Given the description of an element on the screen output the (x, y) to click on. 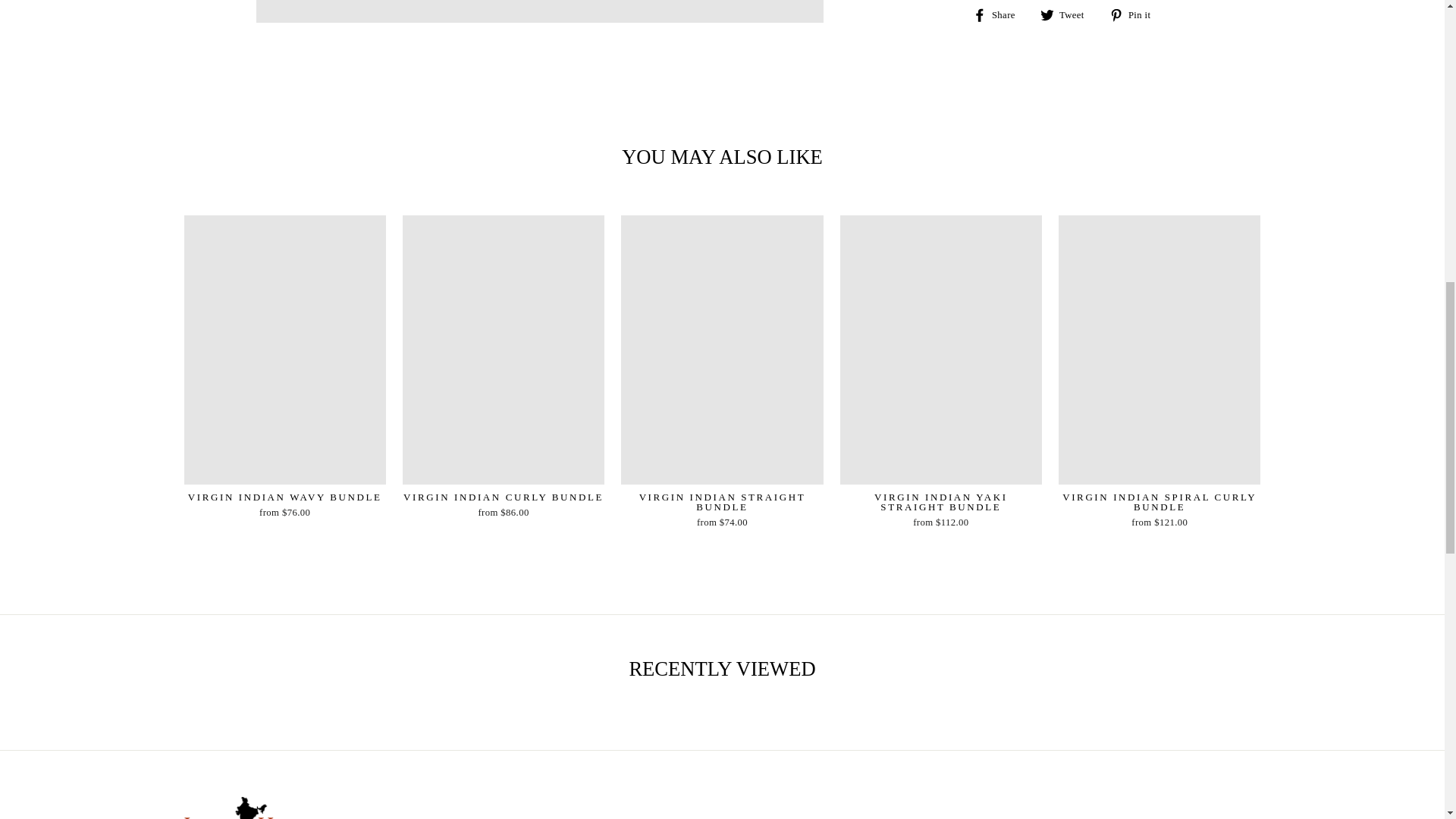
Pin on Pinterest (1135, 13)
Tweet on Twitter (1068, 13)
Share on Facebook (999, 13)
